Given the description of an element on the screen output the (x, y) to click on. 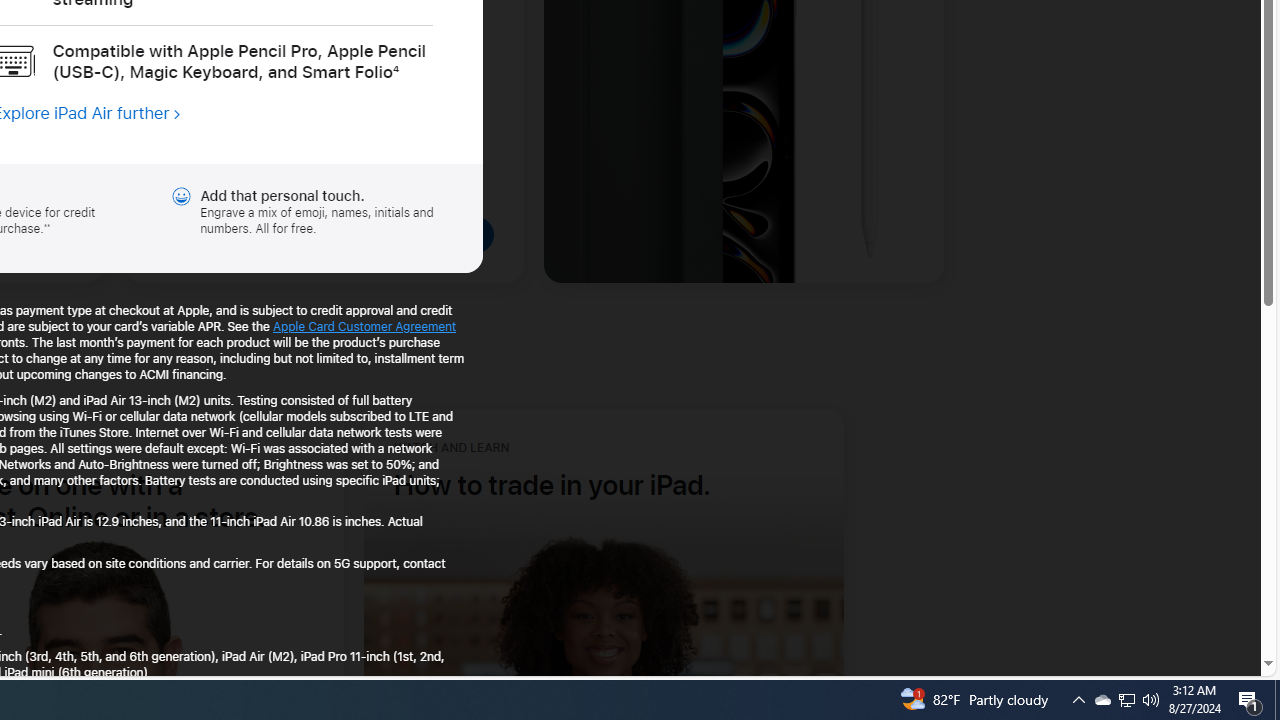
Apple Card Customer Agreement (Opens in a new window) (364, 326)
